Given the description of an element on the screen output the (x, y) to click on. 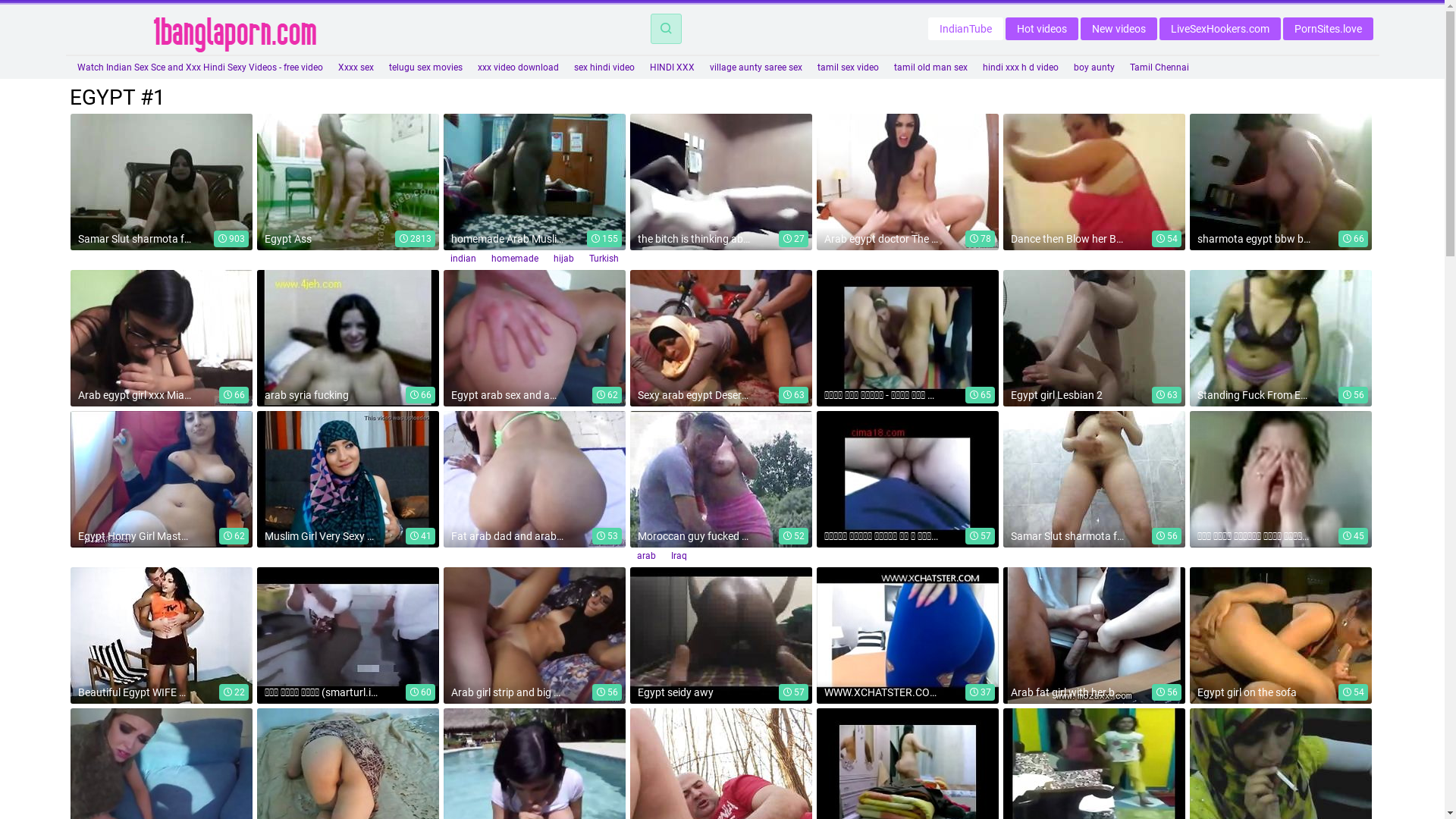
Samar Slut sharmota from Egypt - Portsaid 9
56 Element type: text (1094, 479)
the bitch is thinking about issuies btwn egypt and syria
27 Element type: text (720, 181)
homemade Element type: text (514, 258)
sex hindi video Element type: text (603, 67)
telugu sex movies Element type: text (424, 67)
HINDI XXX Element type: text (671, 67)
arab Element type: text (646, 555)
indian Element type: text (462, 258)
LiveSexHookers.com Element type: text (1219, 27)
Hot videos Element type: text (1041, 27)
Fat arab dad and arabic egypt wife My first Creampie
53 Element type: text (534, 479)
tamil old man sex Element type: text (929, 67)
PornSites.love Element type: text (1328, 27)
Egypt seidy awy
57 Element type: text (720, 635)
Standing Fuck From Egypt
56 Element type: text (1280, 338)
Sexy arab egypt Desert Rose aka Prostitute
63 Element type: text (720, 338)
Dance then Blow her Bf from Egypt
54 Element type: text (1094, 181)
Turkish Element type: text (602, 258)
village aunty saree sex Element type: text (755, 67)
hijab Element type: text (563, 258)
Watch Indian Sex Sce and Xxx Hindi Sexy Videos - free video Element type: text (199, 67)
boy aunty Element type: text (1094, 67)
IndianTube Element type: text (965, 27)
Egypt Horny Girl Masturbate live
62 Element type: text (161, 479)
Egypt girl on the sofa
54 Element type: text (1280, 635)
tamil sex video Element type: text (847, 67)
hindi xxx h d video Element type: text (1020, 67)
arab syria fucking
66 Element type: text (347, 338)
Iraq Element type: text (677, 555)
Arab egypt girl xxx Mia Khalifa Tries A Big Black Dick
66 Element type: text (161, 338)
xxx video download Element type: text (518, 67)
Egypt Ass
2813 Element type: text (347, 181)
Arab fat girl with her boyfriend
56 Element type: text (1094, 635)
Tamil Chennai Element type: text (1159, 67)
Xxxx sex Element type: text (355, 67)
Arab egypt doctor The hottest Arab porn in the world
78 Element type: text (907, 181)
New videos Element type: text (1117, 27)
Egypt girl Lesbian 2
63 Element type: text (1094, 338)
sharmota egypt bbw bigger than white tit and ass
66 Element type: text (1280, 181)
